Given the description of an element on the screen output the (x, y) to click on. 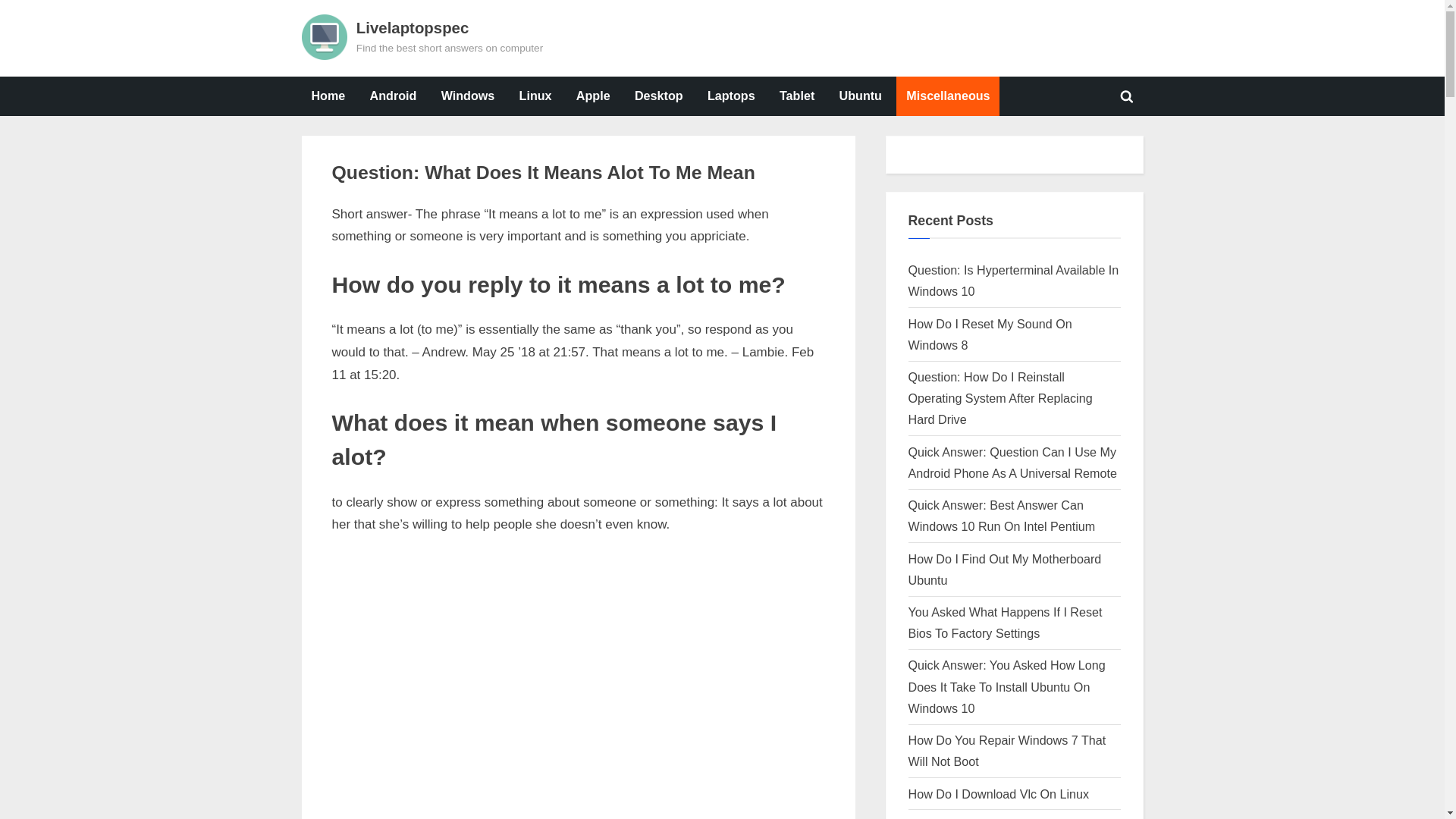
Apple (593, 96)
Desktop (658, 96)
How Do I Reset My Sound On Windows 8 (989, 334)
Tablet (797, 96)
Linux (535, 96)
How Do I Find Out My Motherboard Ubuntu (1005, 569)
Android (392, 96)
Toggle search form (1126, 95)
You Asked What Happens If I Reset Bios To Factory Settings (392, 204)
Question: Is Hyperterminal Available In Windows 10 (364, 204)
